Given the description of an element on the screen output the (x, y) to click on. 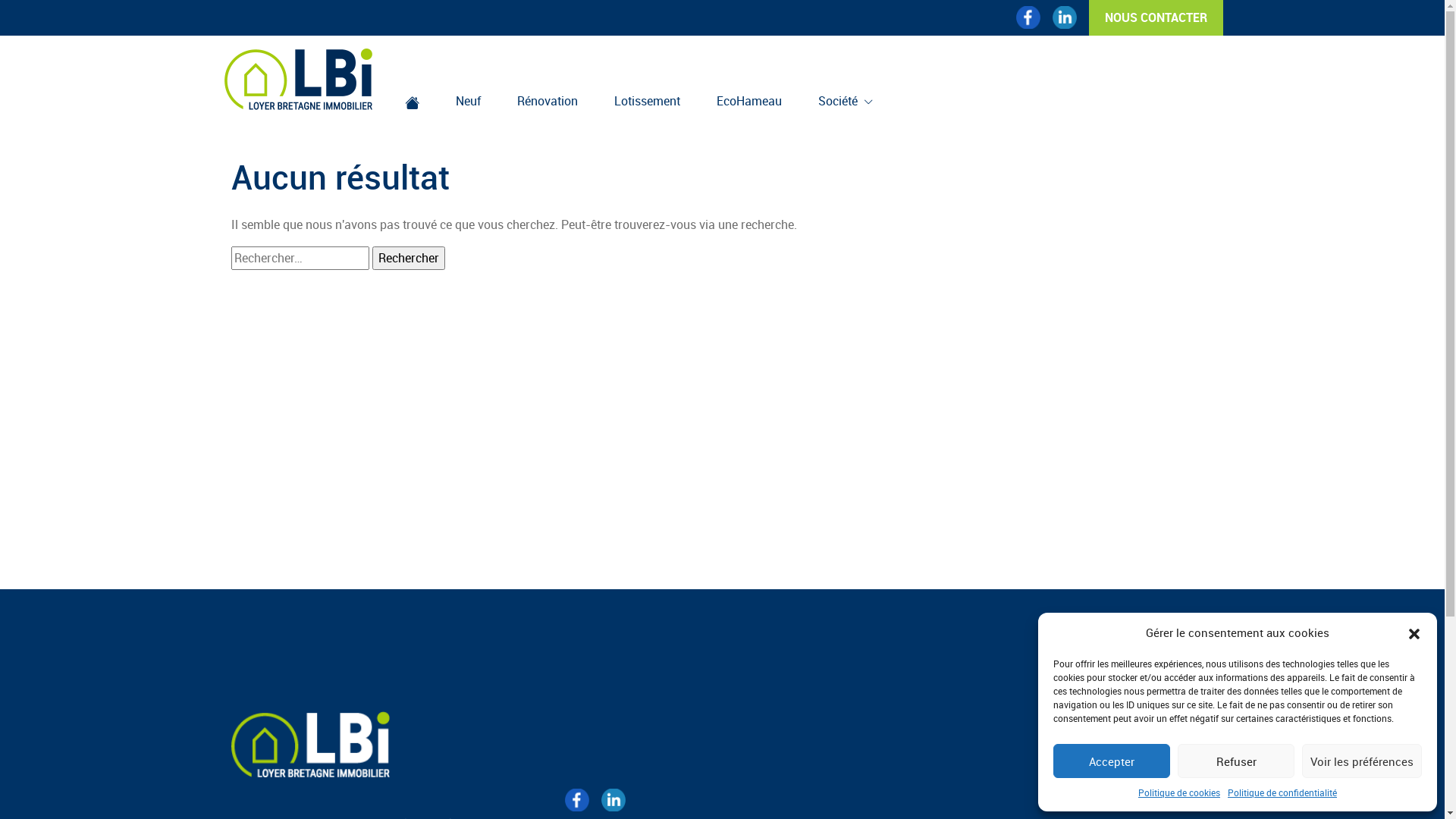
Accepter Element type: text (1111, 760)
Neuf Element type: text (467, 100)
Facebook Element type: text (1028, 17)
Lotissement Element type: text (647, 100)
NOUS CONTACTER Element type: text (1155, 17)
Politique de cookies Element type: text (1179, 792)
Loyer Bretagne Immobilier Element type: text (300, 77)
Refuser Element type: text (1235, 760)
Linked'In Element type: text (1064, 17)
Rechercher Element type: text (407, 257)
Linked'In Element type: text (612, 799)
EcoHameau Element type: text (748, 100)
Facebook Element type: text (576, 799)
